Given the description of an element on the screen output the (x, y) to click on. 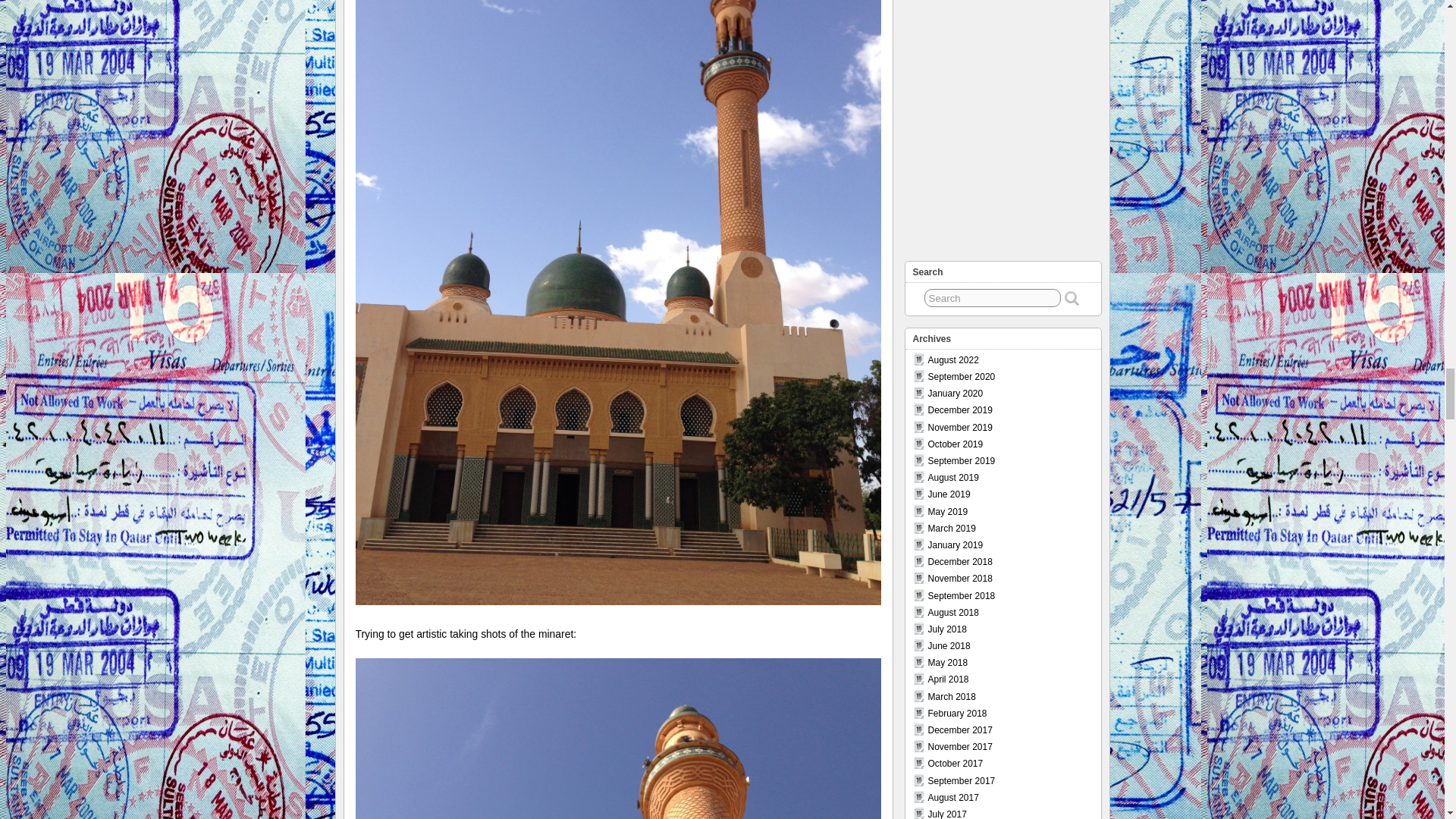
Search (992, 298)
Search (992, 298)
